Given the description of an element on the screen output the (x, y) to click on. 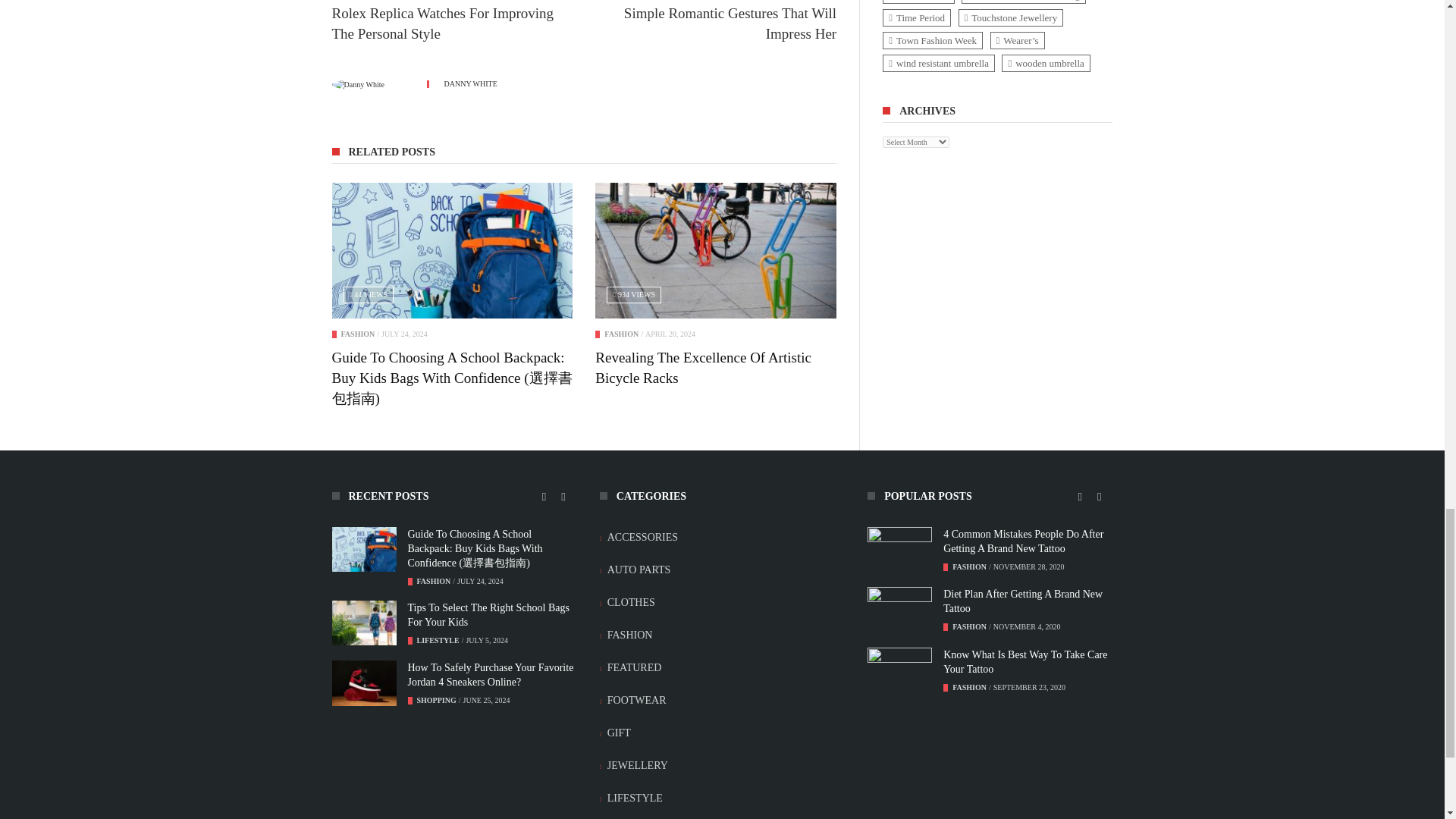
Fashion (621, 334)
Fashion (357, 334)
DANNY WHITE (470, 83)
Revealing the Excellence of Artistic Bicycle Racks (715, 250)
Simple Romantic Gestures That Will Impress Her (715, 23)
Revealing the Excellence of Artistic Bicycle Racks (702, 367)
FASHION (357, 334)
FASHION (621, 334)
Rolex Replica Watches For Improving The Personal Style (452, 23)
